Given the description of an element on the screen output the (x, y) to click on. 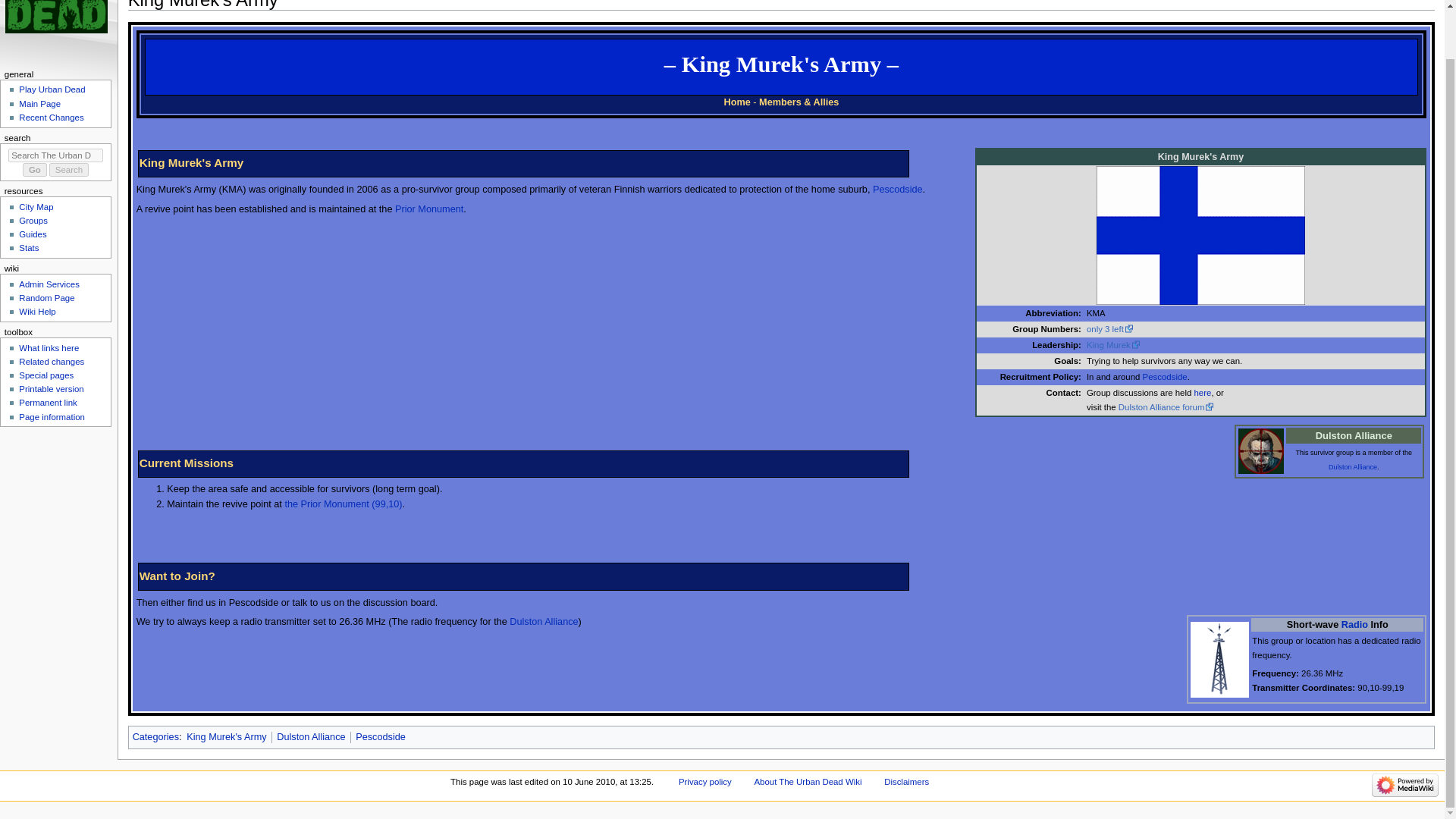
Category:Pescodside (380, 737)
Dulston Alliance (1352, 466)
Category:King Murek's Army (226, 737)
Home (737, 102)
Dulston Alliance (543, 621)
Pescodside (897, 189)
Radio (1354, 624)
Categories (155, 737)
The Prior Monument (428, 208)
Pescodside (380, 737)
Play Urban Dead (51, 89)
Prior Monument (428, 208)
know what you are talking about (1220, 658)
King Murek's Army (226, 737)
